Given the description of an element on the screen output the (x, y) to click on. 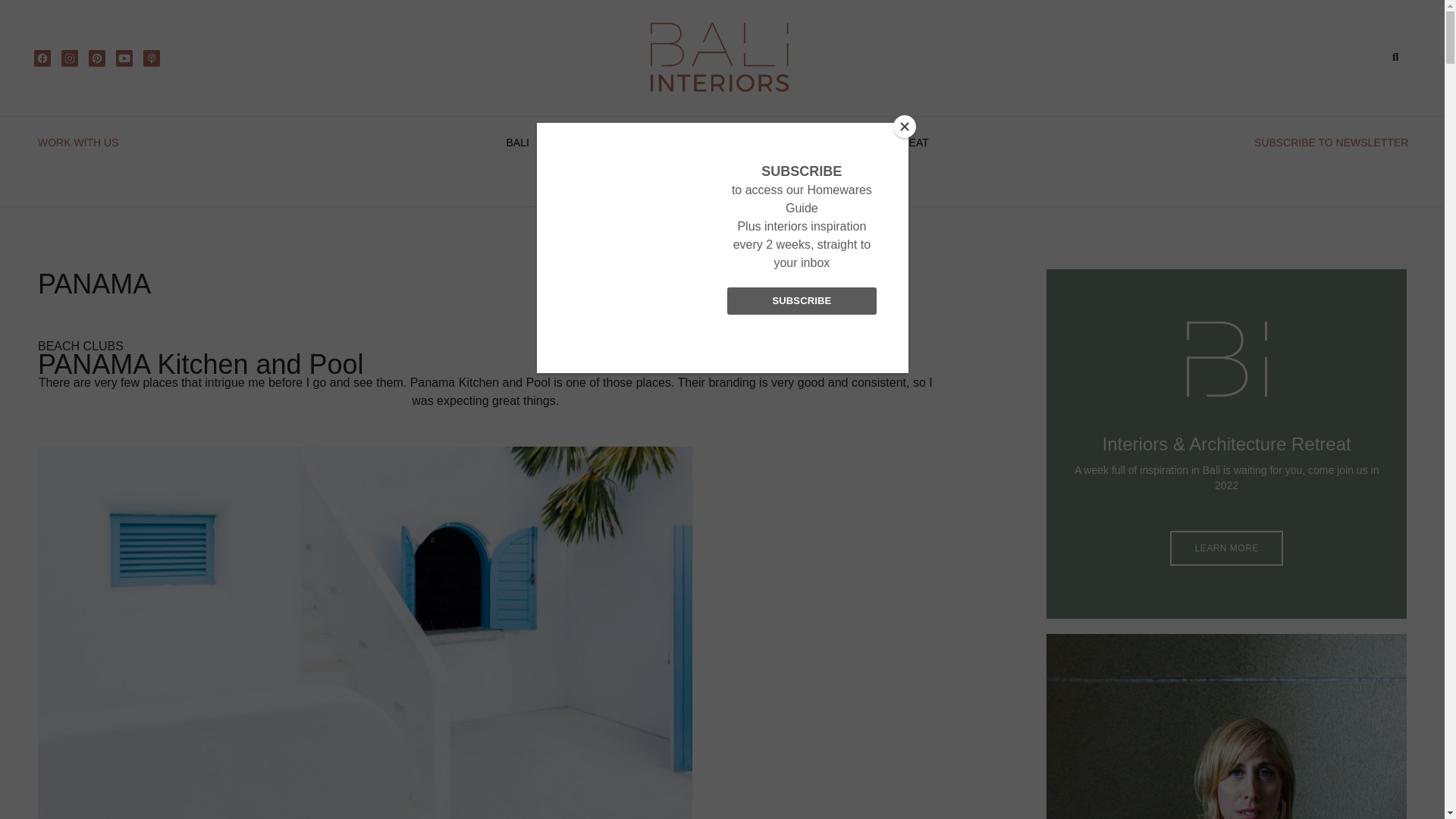
SHOP (772, 142)
Search (1389, 57)
LIFE STYLE (596, 142)
WORK WITH US (78, 142)
VIDEOS (833, 142)
SUBSCRIBE TO NEWSLETTER (1330, 142)
RETREAT (903, 142)
BALI (523, 142)
SUSTAINABILITY (694, 142)
